Given the description of an element on the screen output the (x, y) to click on. 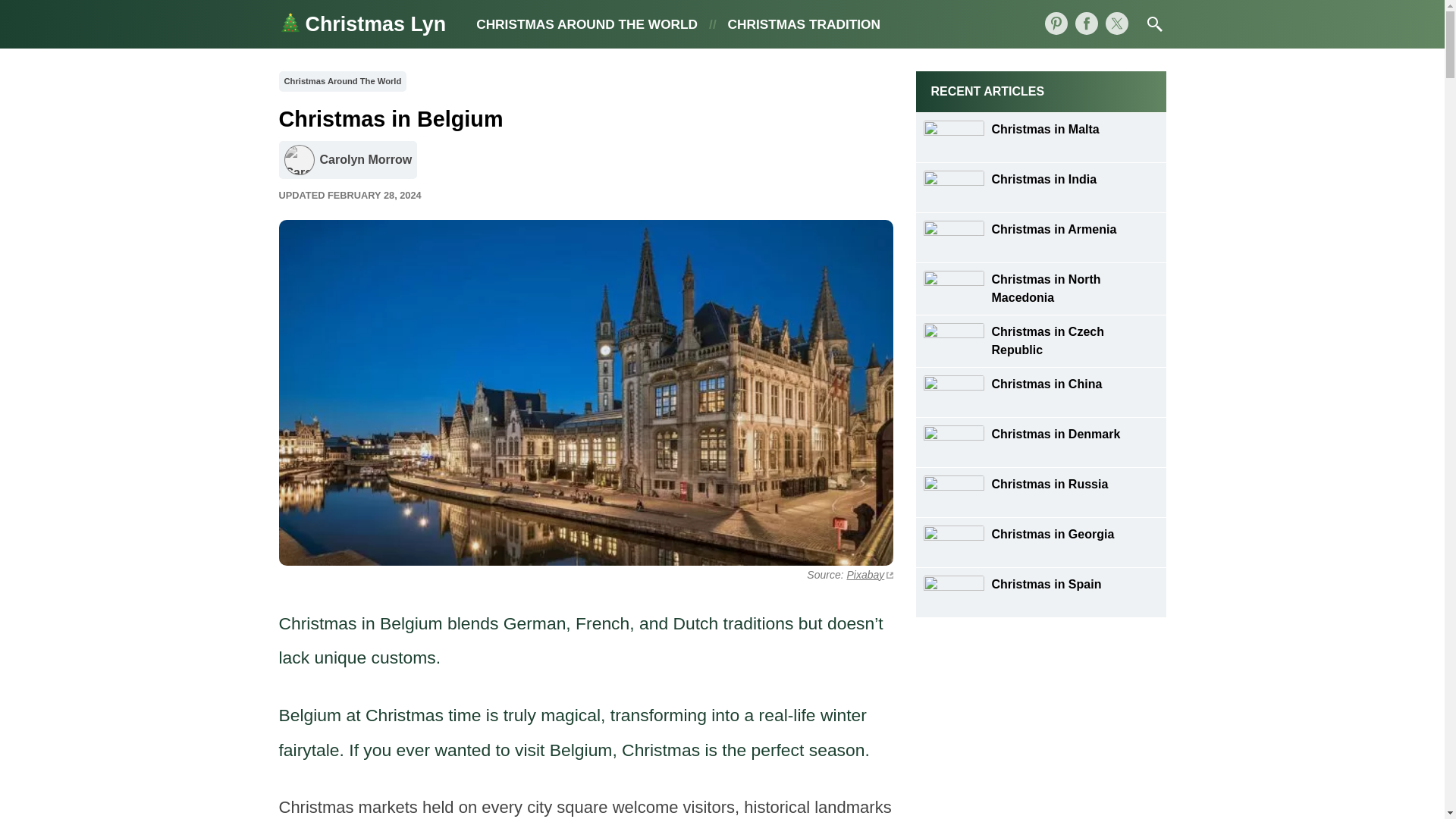
Christmas Lyn (362, 24)
Carolyn Morrow (348, 159)
Advertisement (1040, 729)
search (1154, 24)
Pixabay (868, 574)
CHRISTMAS TRADITION (804, 24)
CHRISTMAS AROUND THE WORLD (586, 24)
Christmas Around The World (343, 81)
